Given the description of an element on the screen output the (x, y) to click on. 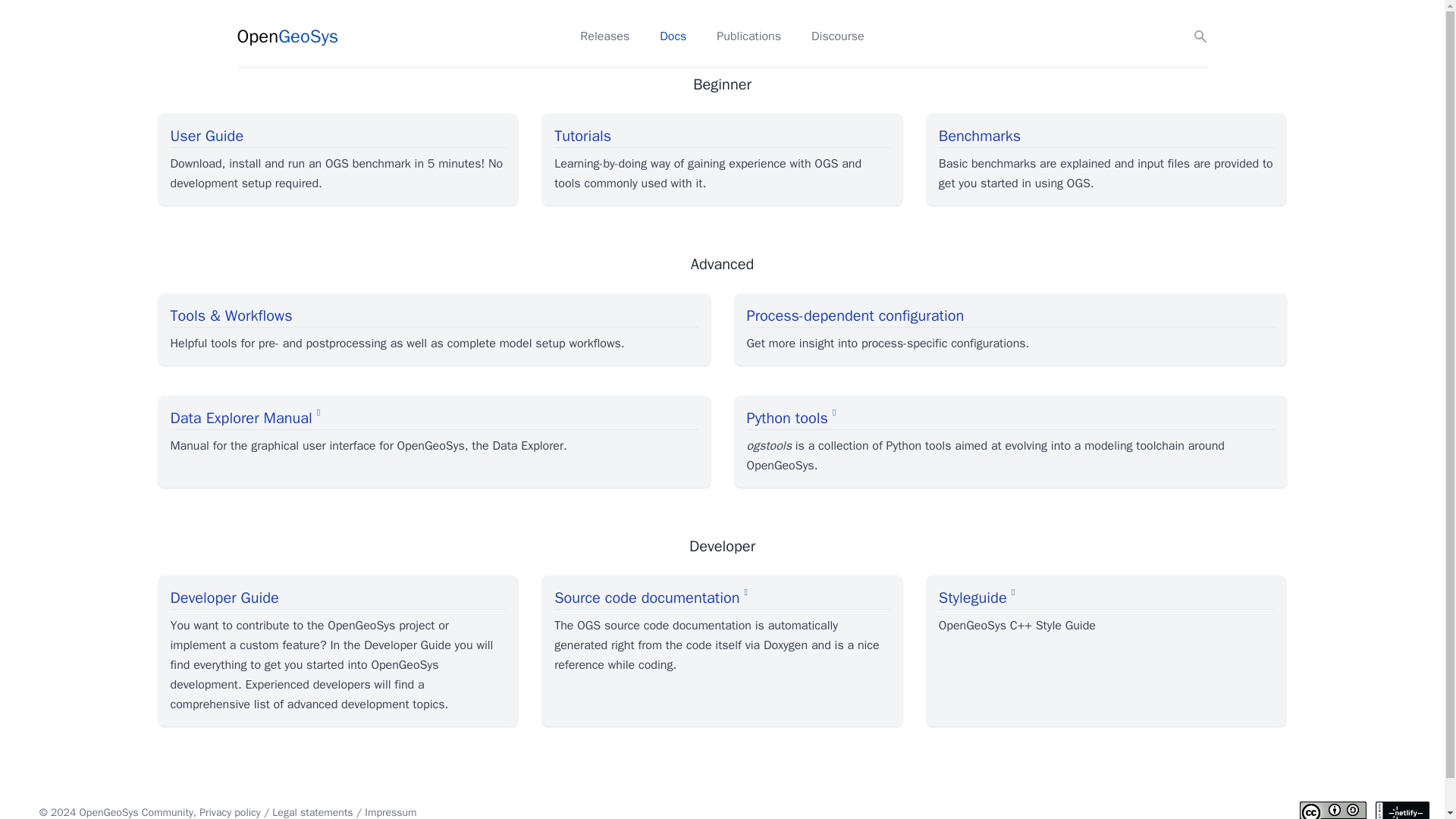
Docs (672, 36)
Discourse (837, 36)
